Given the description of an element on the screen output the (x, y) to click on. 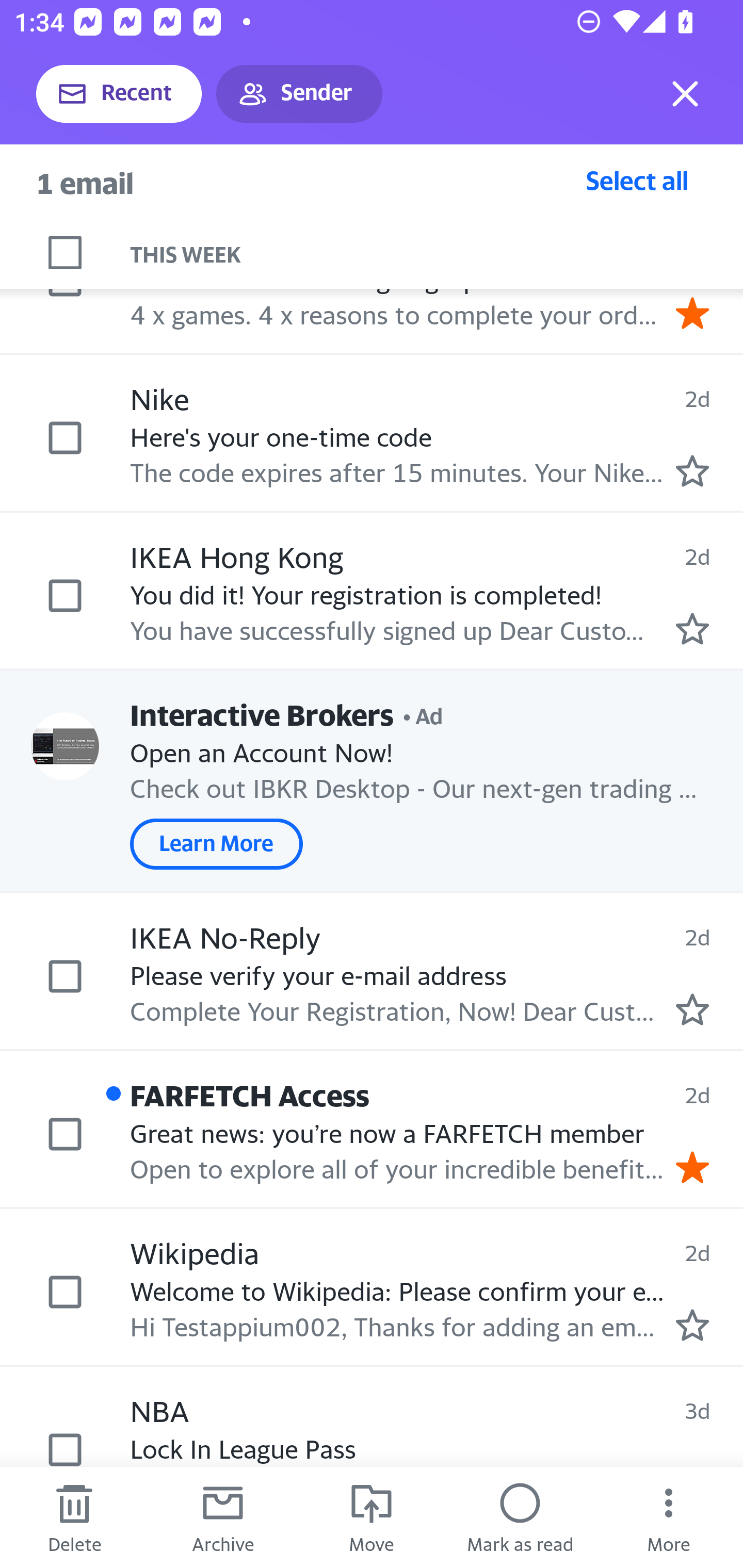
Sender (299, 93)
Exit selection mode (684, 93)
Select all (637, 180)
Remove star. (692, 312)
Mark as starred. (692, 471)
Mark as starred. (692, 627)
Mark as starred. (692, 1008)
Remove star. (692, 1167)
Mark as starred. (692, 1325)
Delete (74, 1517)
Archive (222, 1517)
Move (371, 1517)
Mark as read (519, 1517)
More (668, 1517)
